Given the description of an element on the screen output the (x, y) to click on. 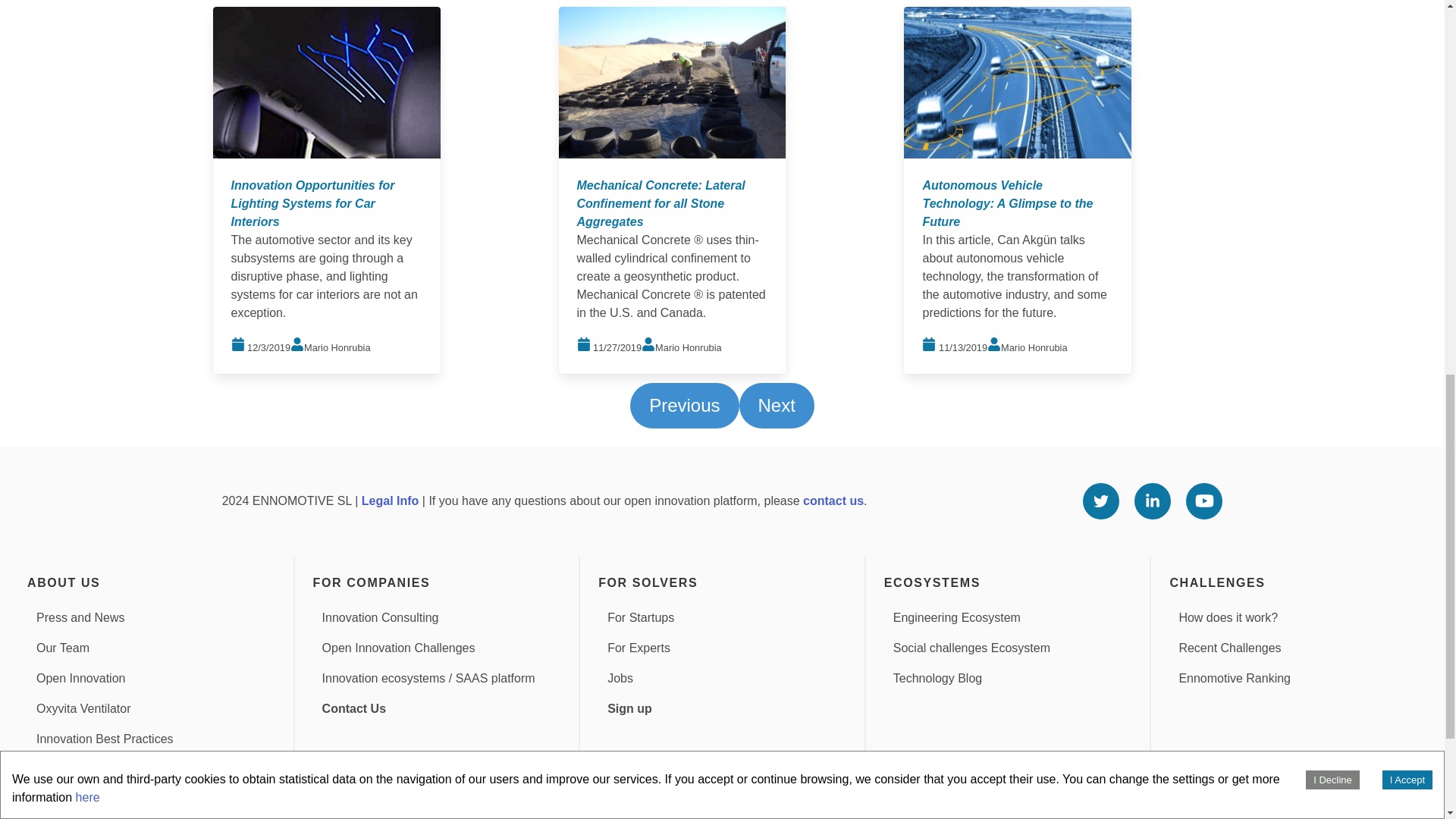
Previous (684, 405)
Next (775, 405)
Legal Info (390, 500)
Autonomous Vehicle Technology: A Glimpse to the Future (1007, 203)
